Given the description of an element on the screen output the (x, y) to click on. 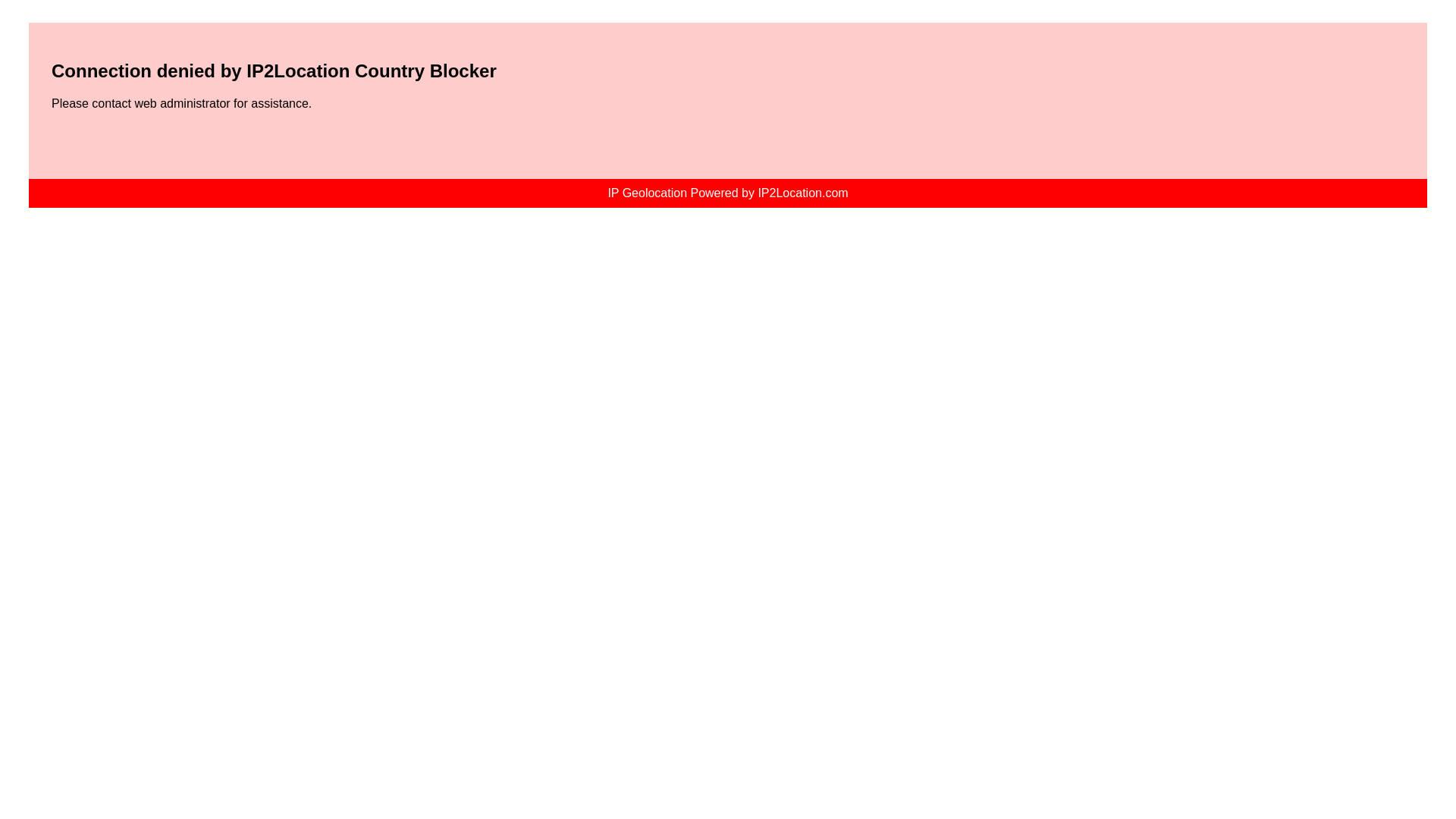
IP Geolocation Powered by IP2Location.com Element type: text (727, 192)
